Given the description of an element on the screen output the (x, y) to click on. 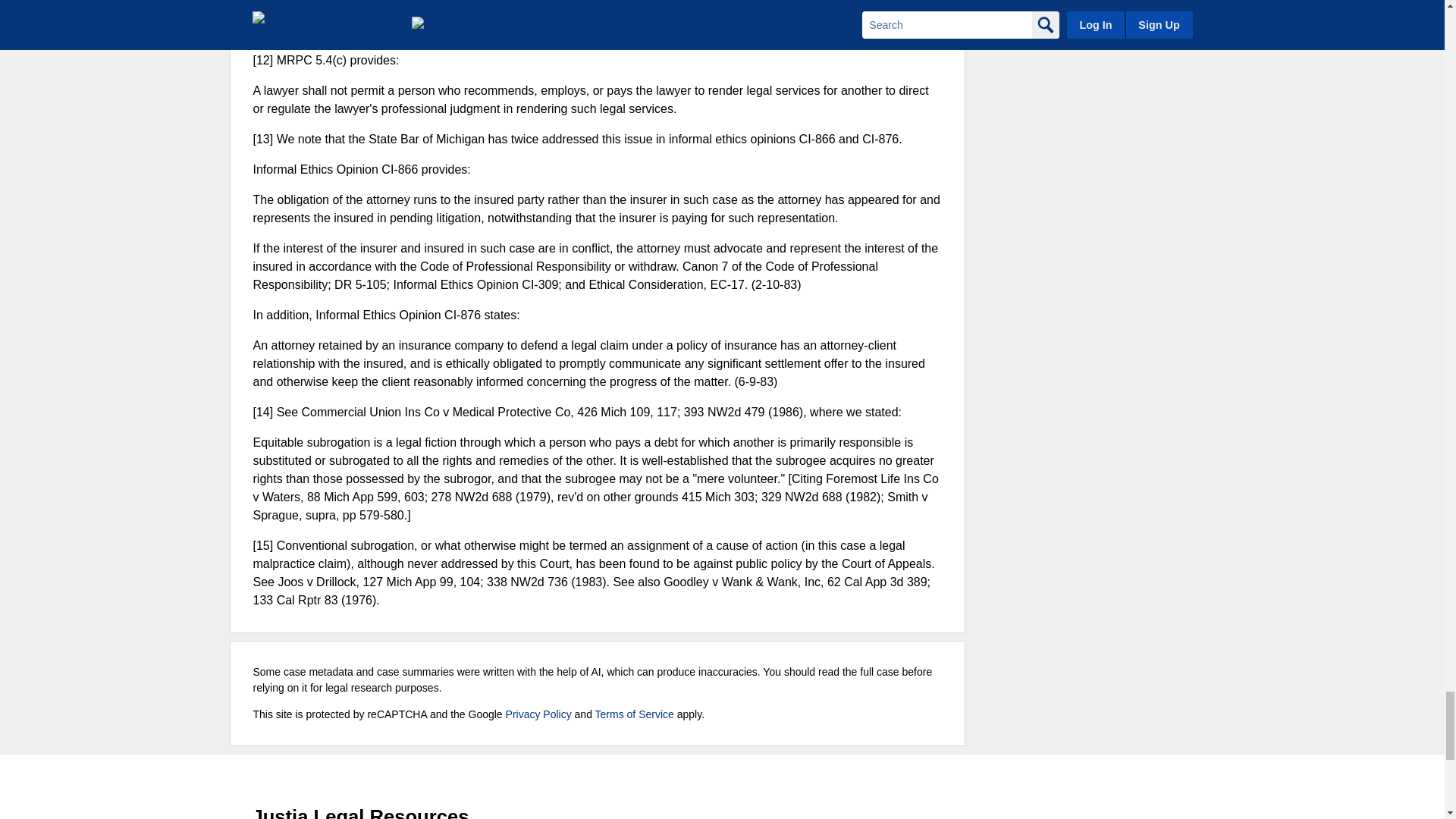
Terms of Service (634, 714)
Privacy Policy (538, 714)
